Given the description of an element on the screen output the (x, y) to click on. 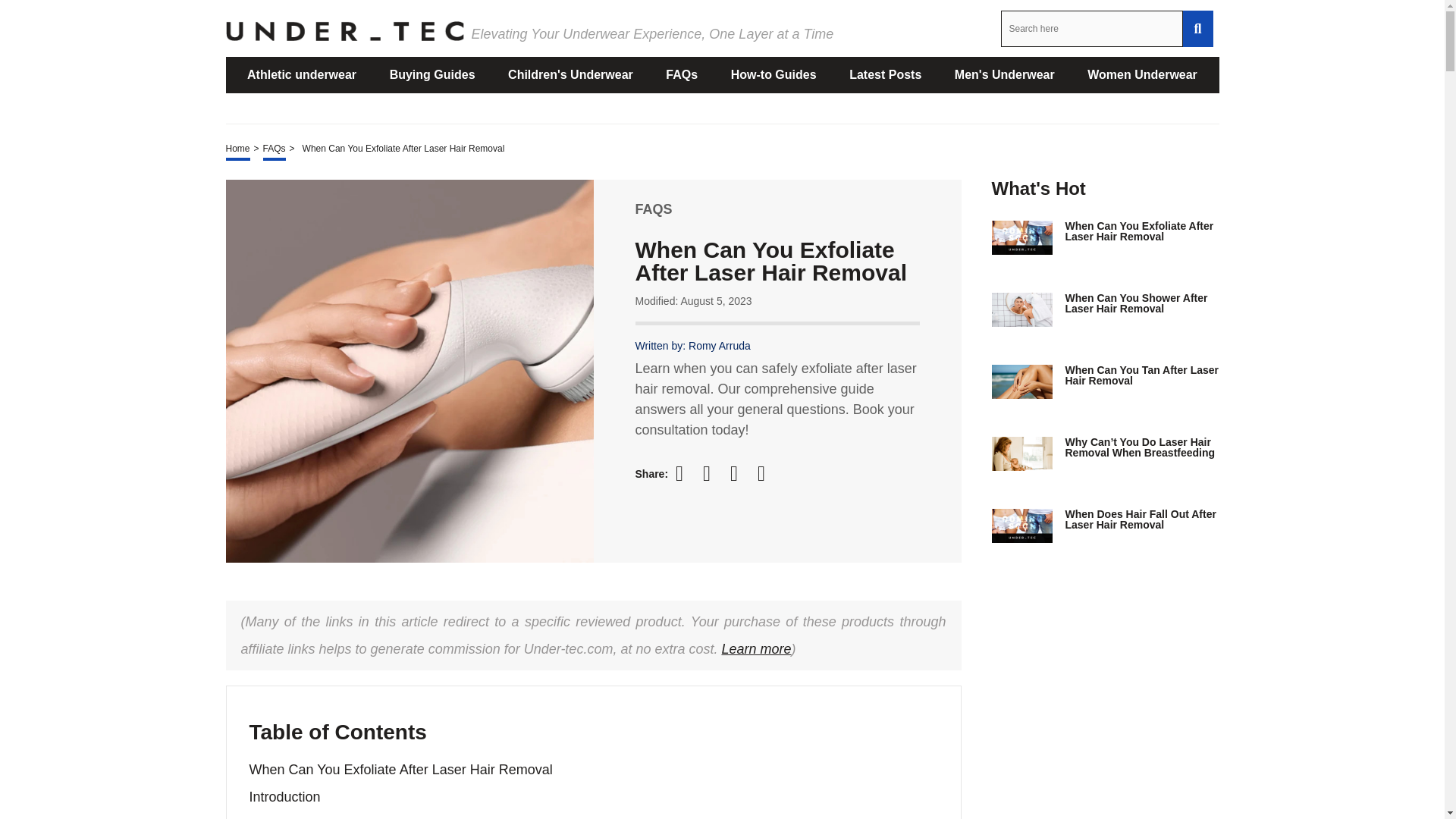
Buying Guides (432, 74)
Latest Posts (885, 74)
Women Underwear (1141, 74)
Athletic underwear (301, 74)
FAQs (681, 74)
How-to Guides (773, 74)
Share on Facebook (686, 473)
Share on Pinterest (740, 473)
Share on WhatsApp (767, 473)
Men's Underwear (1004, 74)
Share on Twitter (713, 473)
Children's Underwear (570, 74)
